Given the description of an element on the screen output the (x, y) to click on. 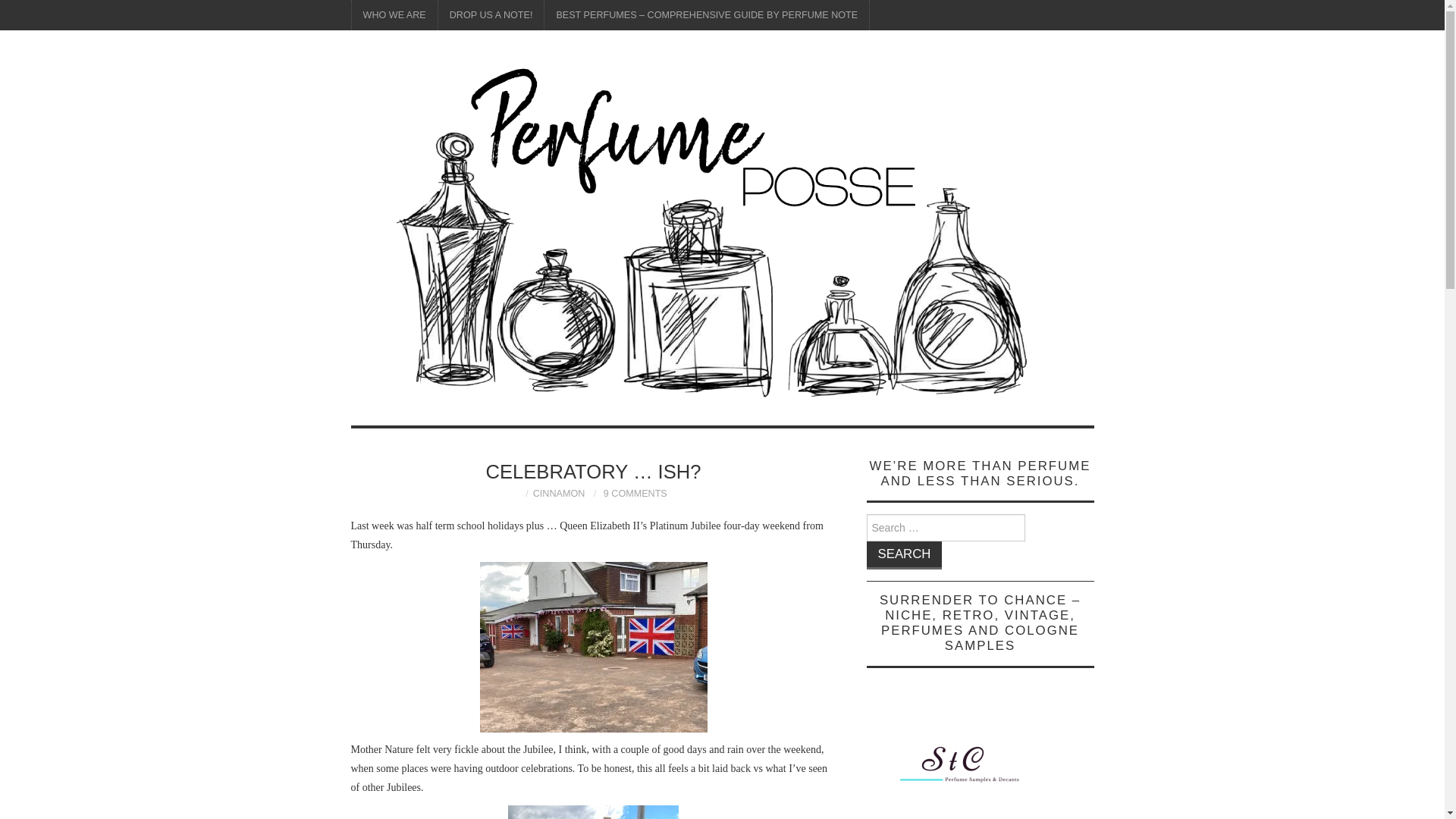
Perfume Posse (721, 234)
Search (904, 555)
DROP US A NOTE! (491, 15)
9 COMMENTS (635, 493)
Search for: (945, 527)
CINNAMON (558, 493)
Search (904, 555)
WHO WE ARE (395, 15)
Search (904, 555)
